Given the description of an element on the screen output the (x, y) to click on. 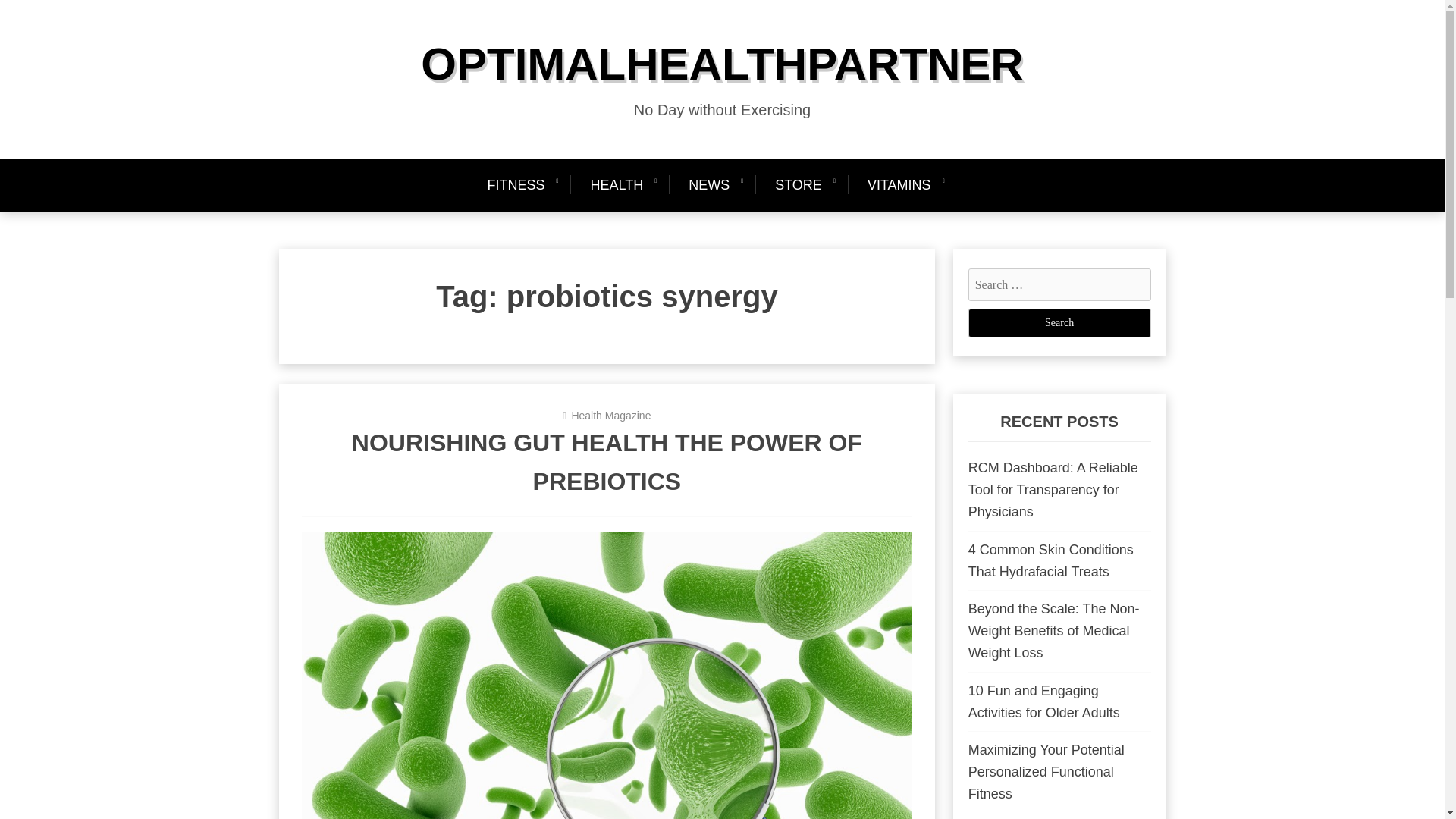
4 Common Skin Conditions That Hydrafacial Treats (1051, 560)
NOURISHING GUT HEALTH THE POWER OF PREBIOTICS (606, 462)
Search (1059, 322)
OPTIMALHEALTHPARTNER (721, 63)
Search (1059, 322)
FITNESS (522, 184)
Maximizing Your Potential Personalized Functional Fitness (1046, 771)
NEWS (708, 184)
Search (1059, 322)
Health Magazine (610, 415)
STORE (798, 184)
VITAMINS (898, 184)
10 Fun and Engaging Activities for Older Adults (1043, 701)
